Given the description of an element on the screen output the (x, y) to click on. 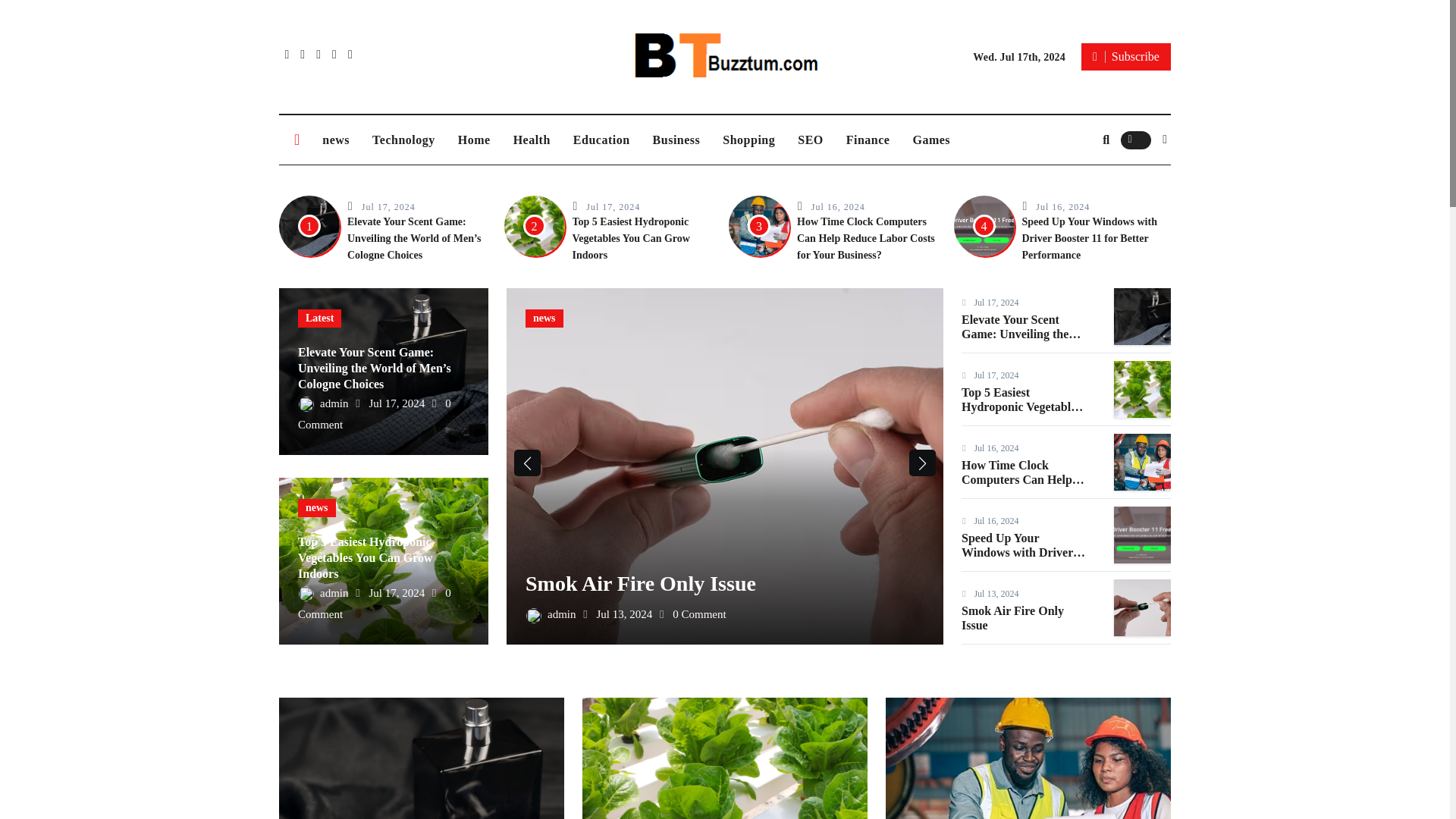
Latest (319, 318)
Jul 17, 2024 (387, 206)
Games (930, 139)
Jul 16, 2024 (1062, 206)
Business (676, 139)
Health (532, 139)
SEO (810, 139)
Business (676, 139)
Top 5 Easiest Hydroponic Vegetables You Can Grow Indoors (630, 238)
Shopping (748, 139)
SEO (810, 139)
Home (474, 139)
news (336, 139)
Education (602, 139)
Finance (867, 139)
